Given the description of an element on the screen output the (x, y) to click on. 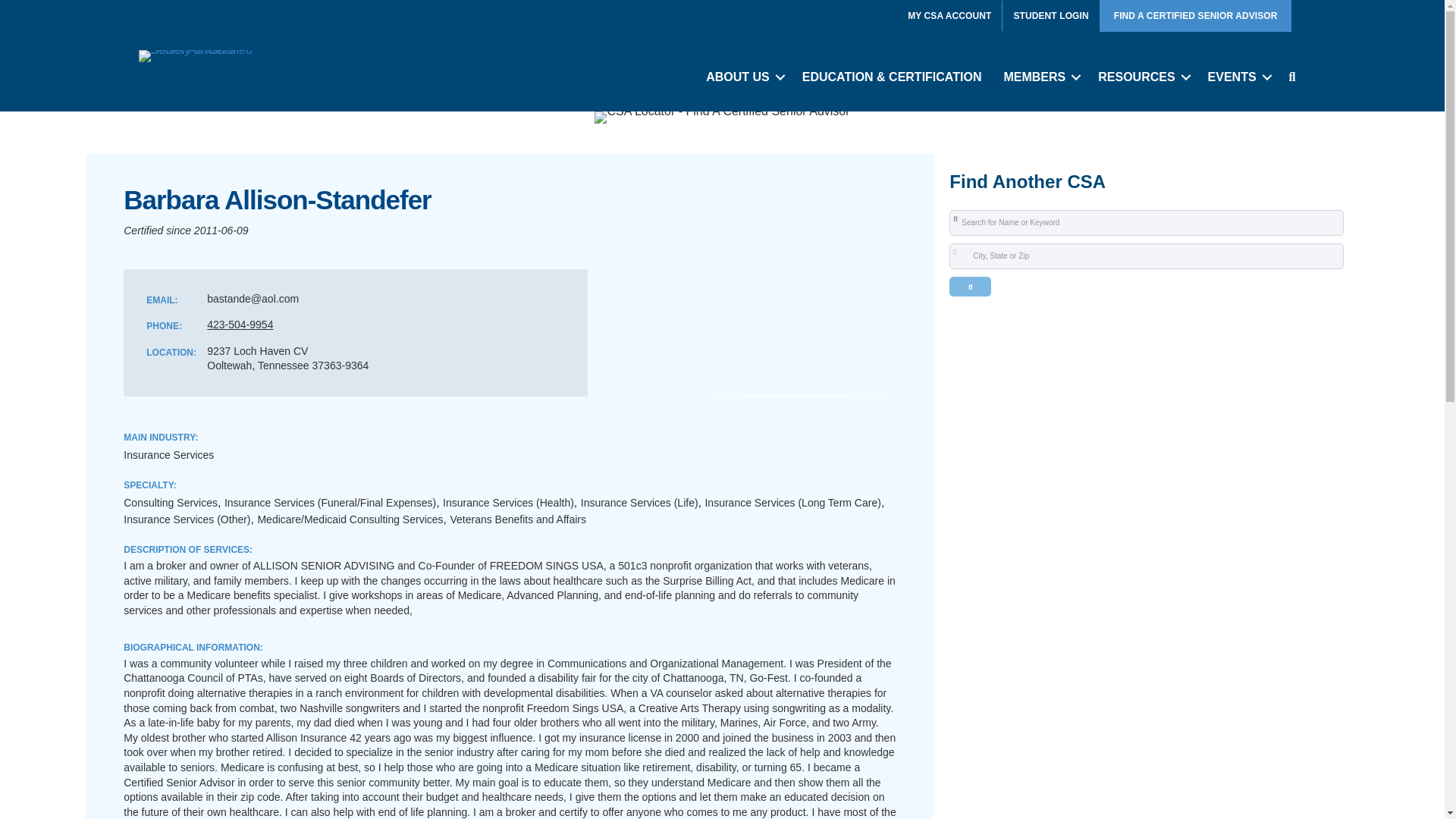
STUDENT LOGIN (1051, 15)
FIND A CERTIFIED SENIOR ADVISOR (1195, 15)
MEMBERS (1039, 77)
Insurance Services (168, 454)
Consulting Services (169, 502)
MY CSA ACCOUNT (948, 15)
423-504-9954 (239, 324)
EVENTS (1237, 77)
logo-scsa-200px (198, 55)
RESOURCES (1141, 77)
